Given the description of an element on the screen output the (x, y) to click on. 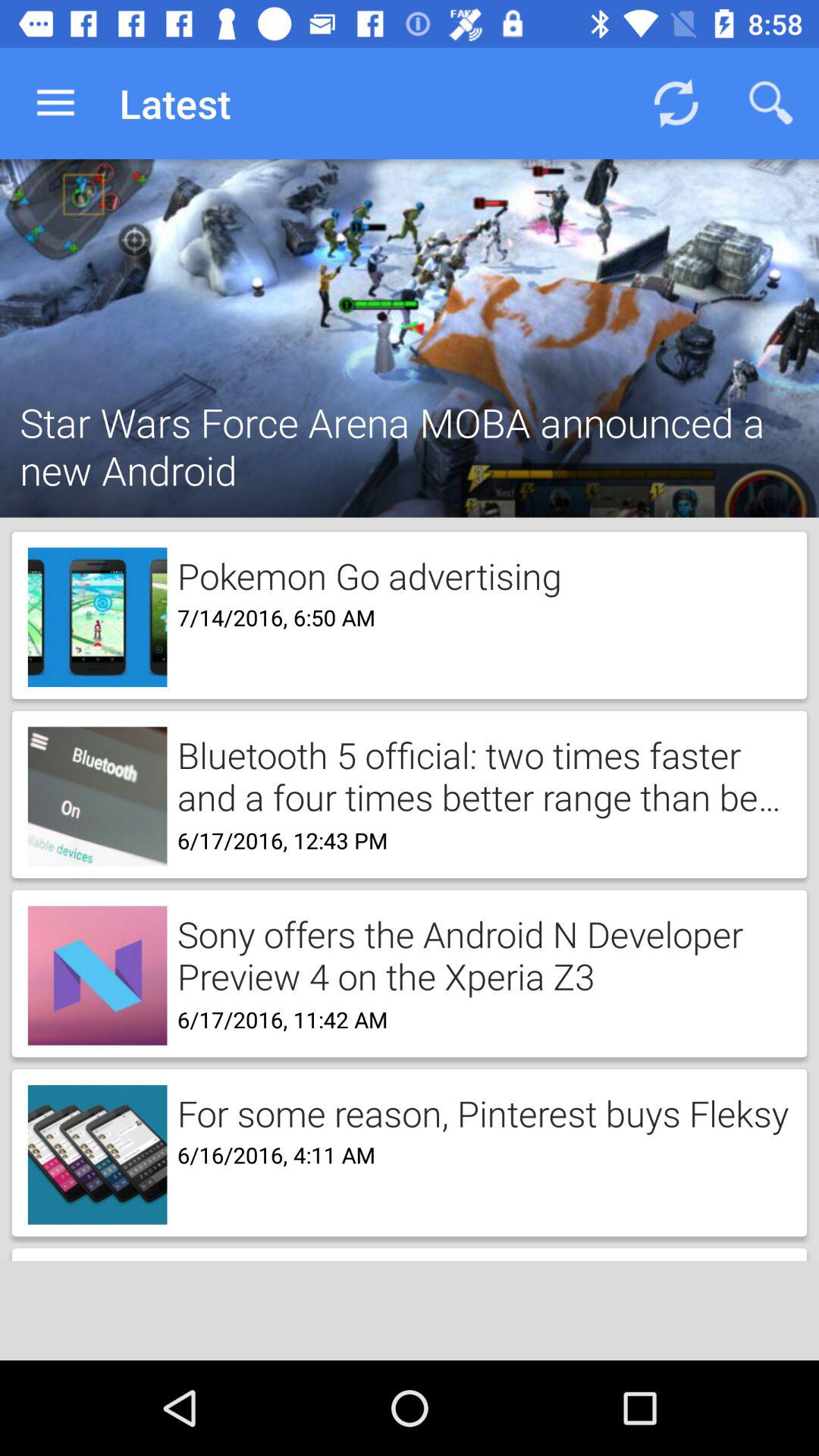
turn on the pokemon go advertising icon (364, 573)
